Given the description of an element on the screen output the (x, y) to click on. 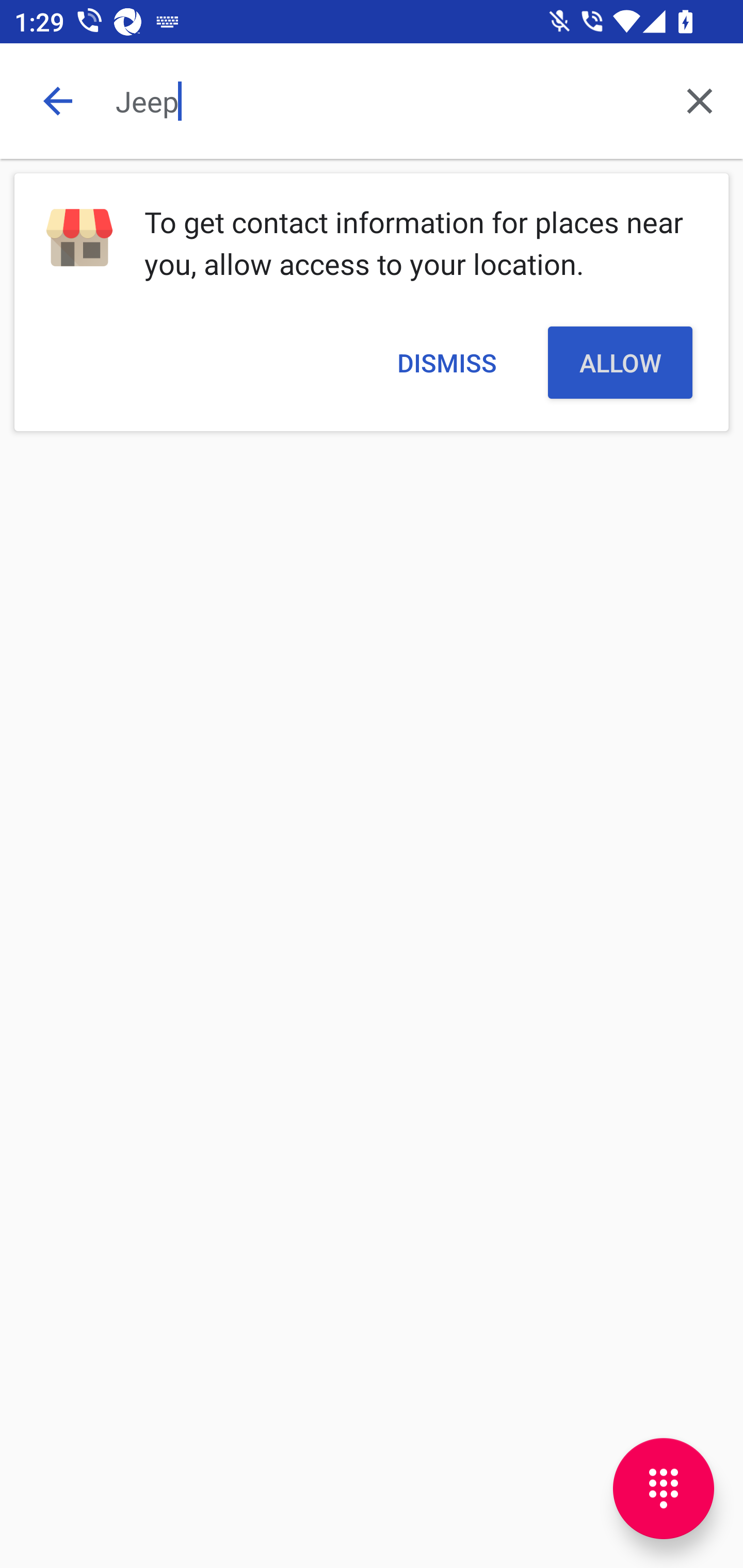
stop searching (57, 101)
Jeep (385, 101)
Clear search (699, 101)
DISMISS (446, 362)
ALLOW (619, 362)
key pad (663, 1488)
